Given the description of an element on the screen output the (x, y) to click on. 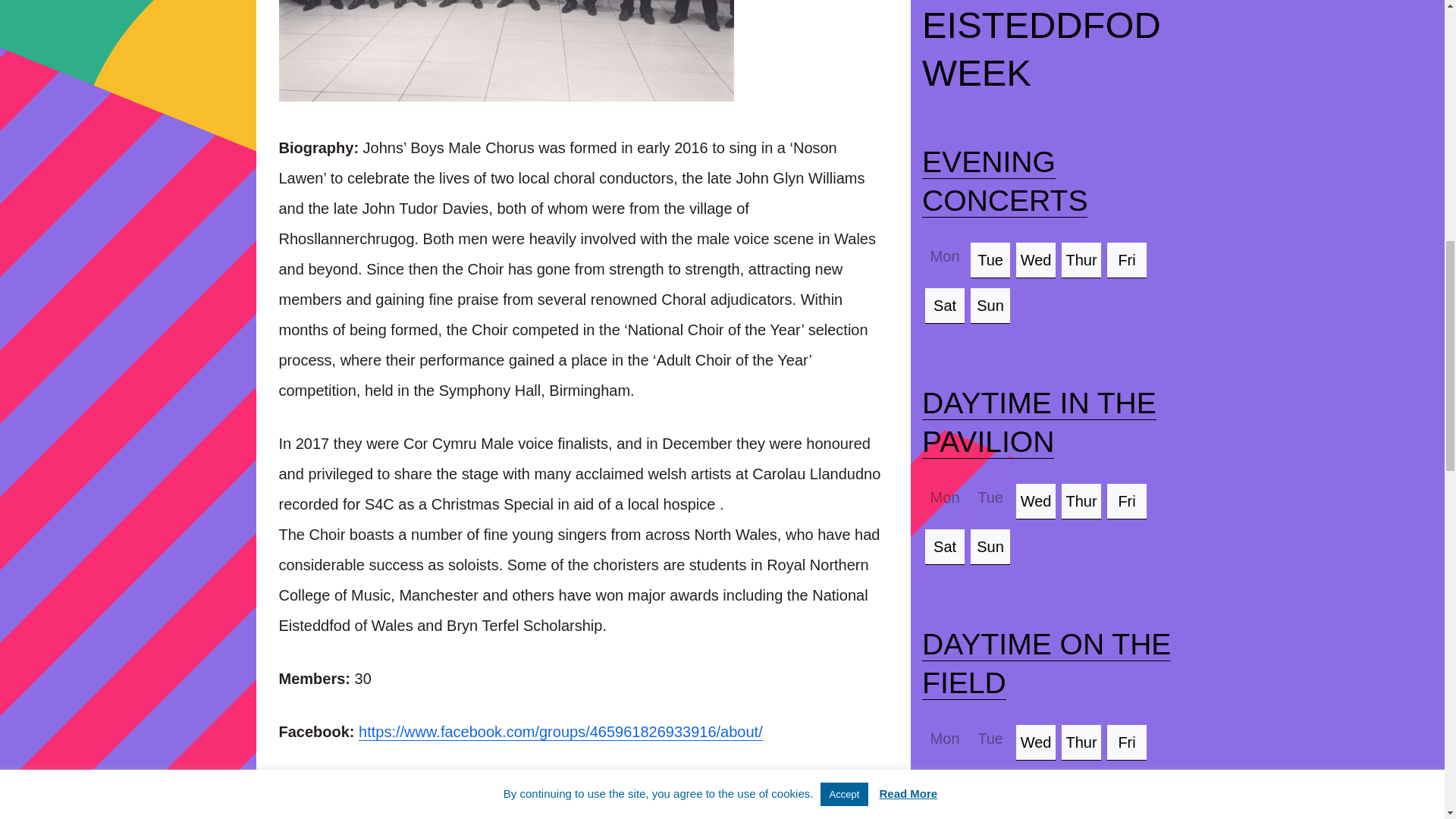
Thursday Evening (1080, 259)
Tuesday Evening (990, 259)
Friday Day (1126, 501)
Saturday Day (943, 787)
Sunday Evening (990, 305)
Thursday Day (1080, 742)
Sunday Day (990, 546)
Wednesday Day (1035, 742)
Thursday Day (1080, 501)
Friday Day (1126, 742)
